Given the description of an element on the screen output the (x, y) to click on. 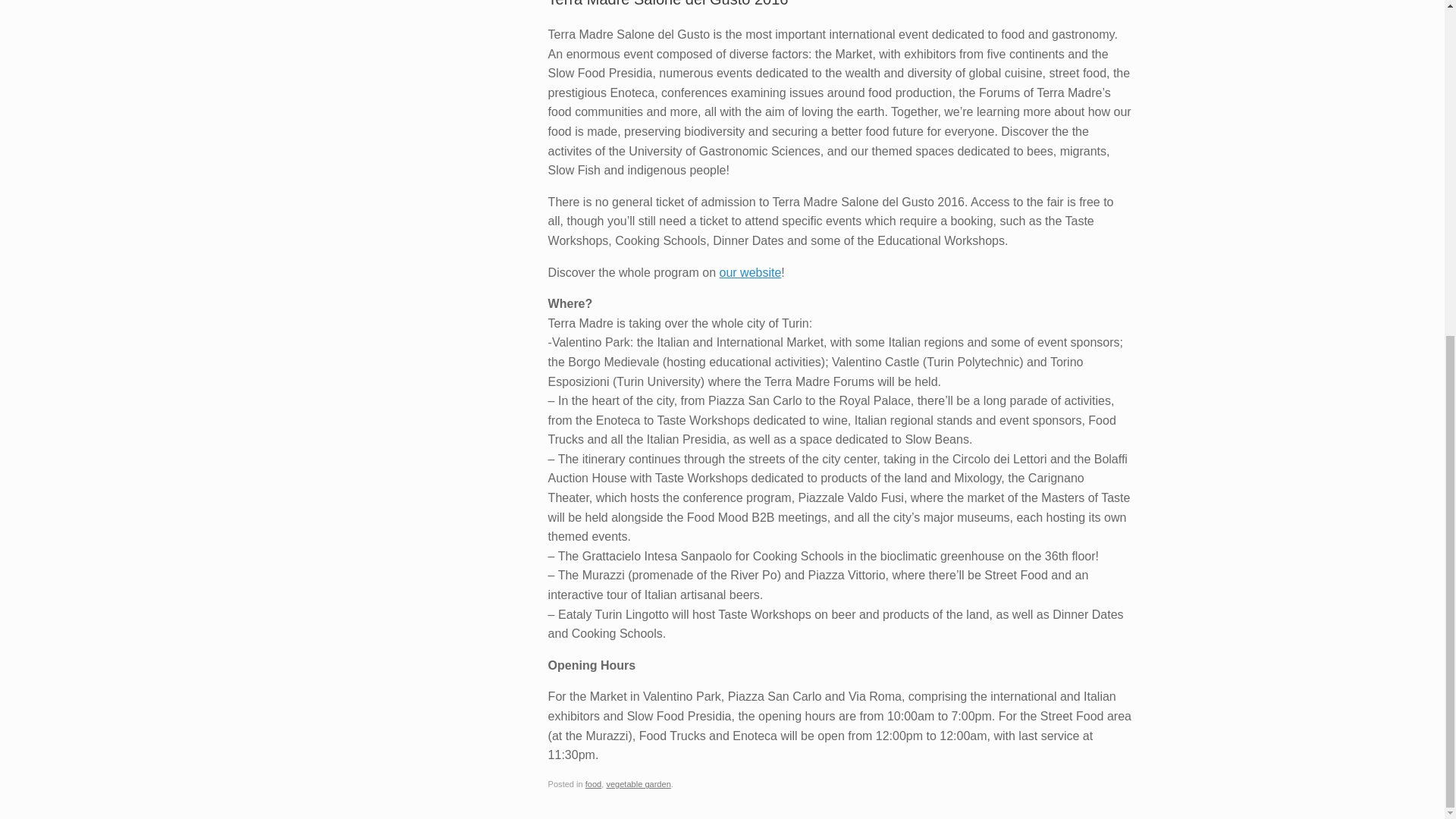
our website (749, 272)
vegetable garden (637, 783)
food (593, 783)
